Given the description of an element on the screen output the (x, y) to click on. 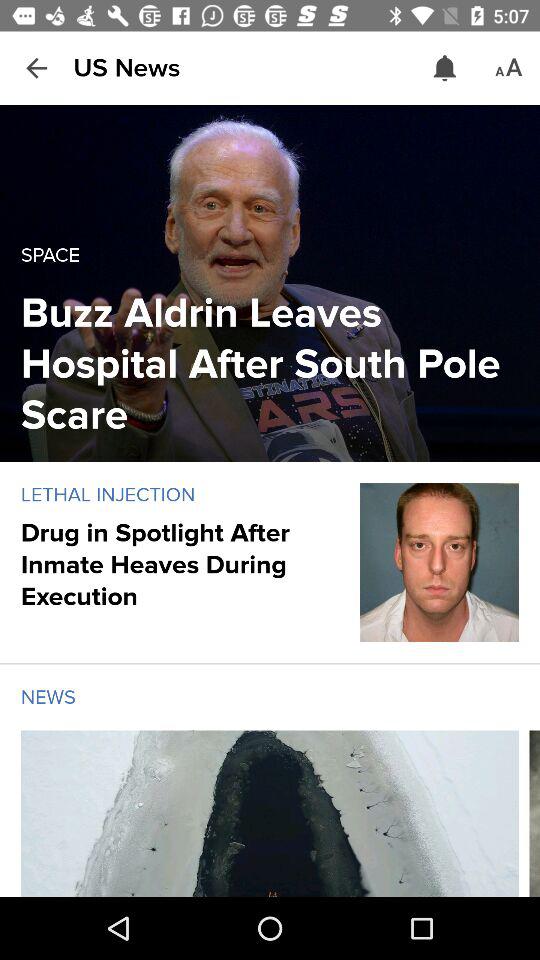
launch us news icon (126, 68)
